Given the description of an element on the screen output the (x, y) to click on. 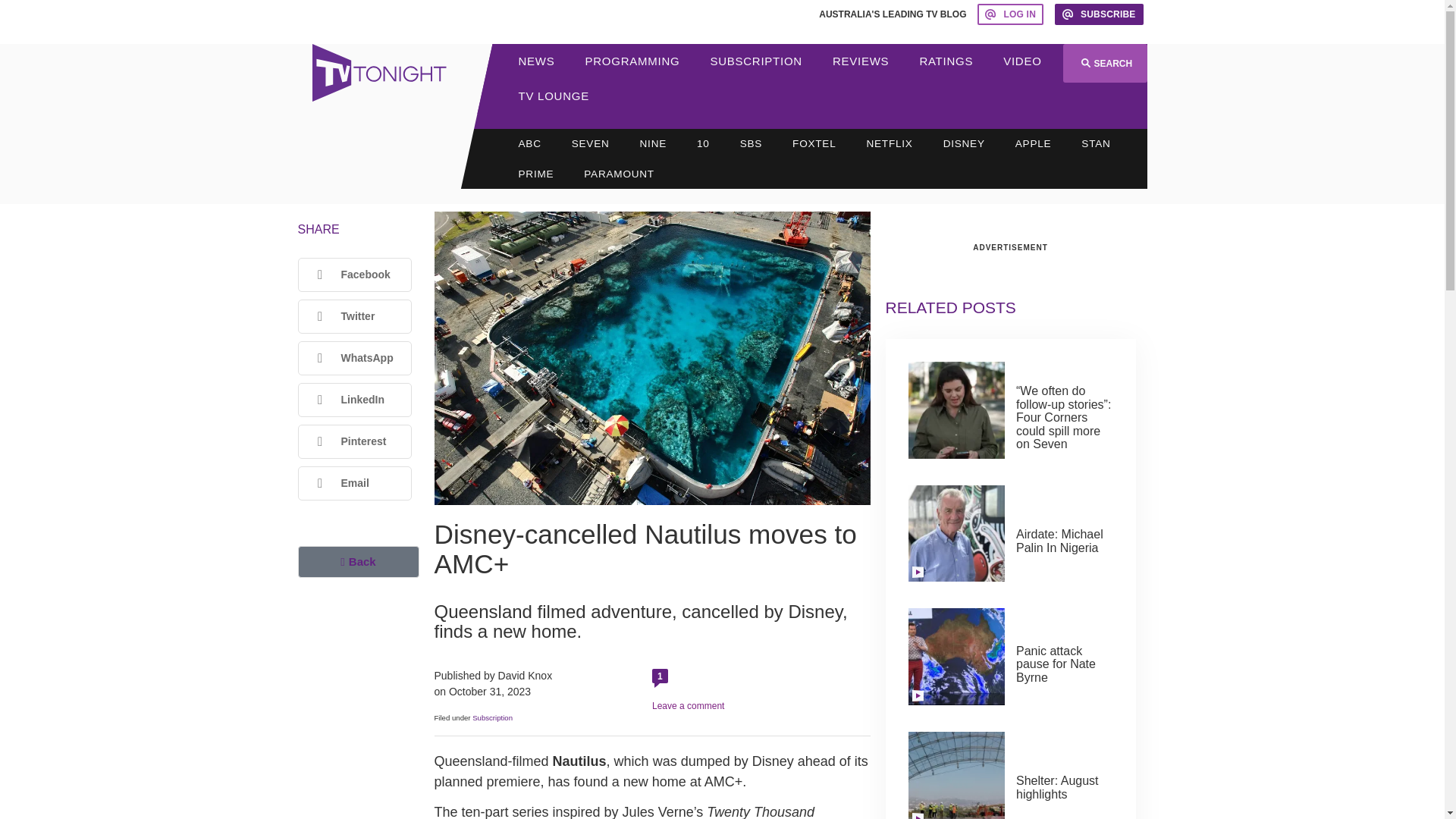
RATINGS (946, 61)
SEARCH (1104, 63)
LOG IN (1010, 14)
TV LOUNGE (553, 95)
SUBSCRIBE (1098, 14)
PROGRAMMING (632, 61)
REVIEWS (860, 61)
SUBSCRIPTION (755, 61)
ABC (529, 143)
NEWS (536, 61)
